Given the description of an element on the screen output the (x, y) to click on. 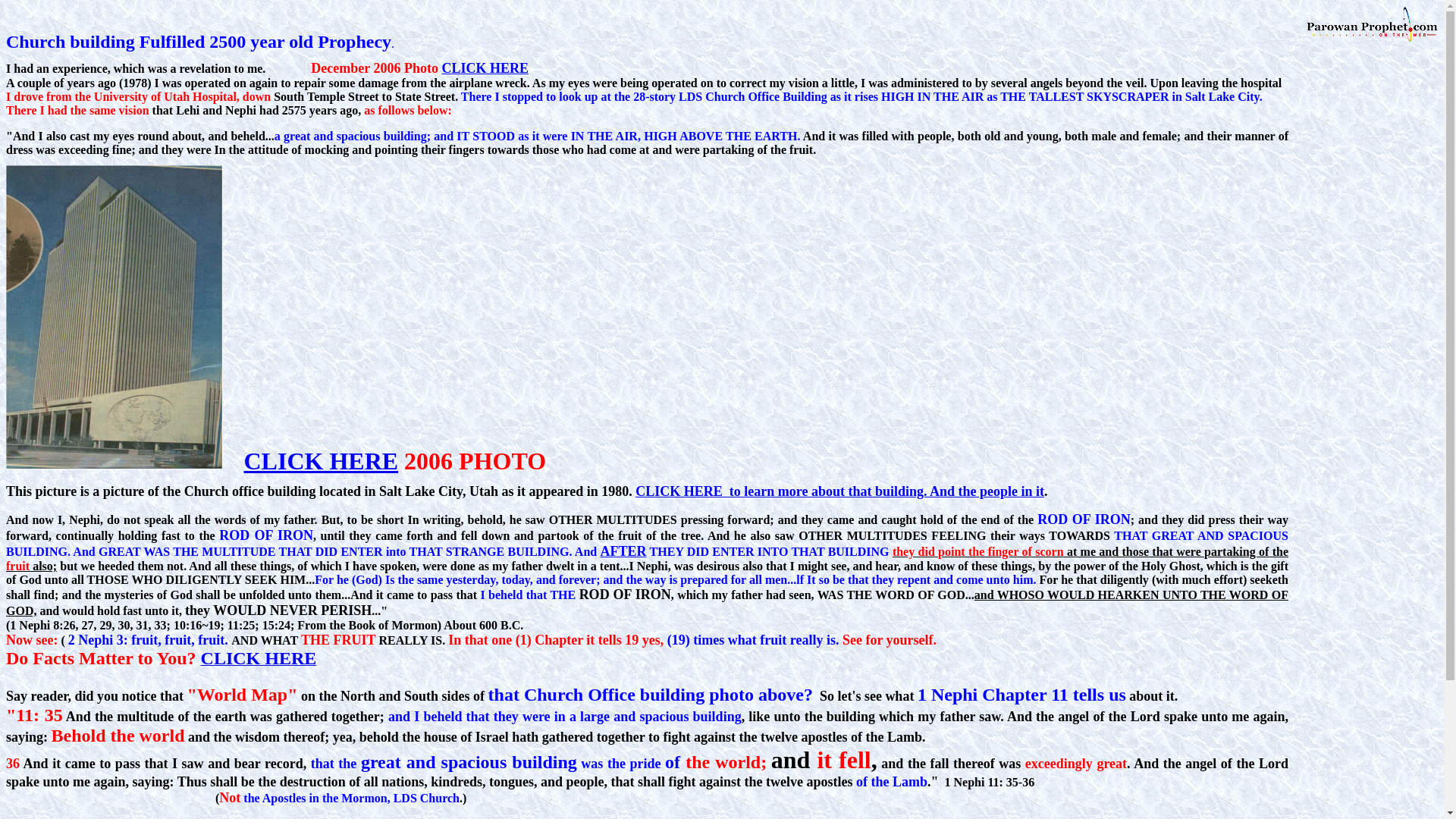
CLICK HERE (484, 68)
CLICK HERE (321, 461)
CLICK HERE (258, 659)
